Given the description of an element on the screen output the (x, y) to click on. 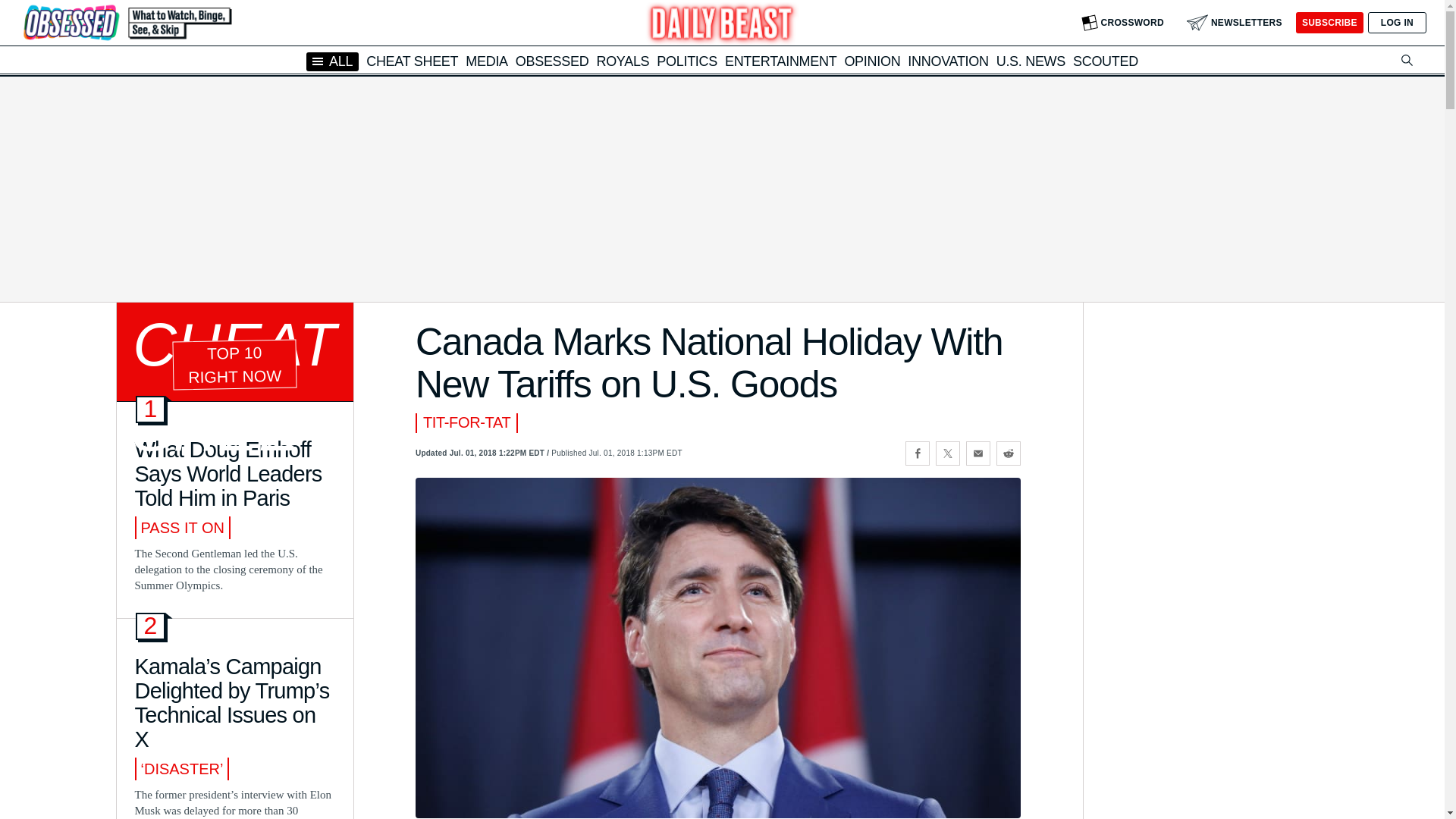
MEDIA (486, 60)
OBSESSED (552, 60)
OPINION (871, 60)
POLITICS (686, 60)
CHEAT SHEET (412, 60)
NEWSLETTERS (1234, 22)
INNOVATION (947, 60)
U.S. NEWS (1030, 60)
CROSSWORD (1122, 22)
ROYALS (622, 60)
